Given the description of an element on the screen output the (x, y) to click on. 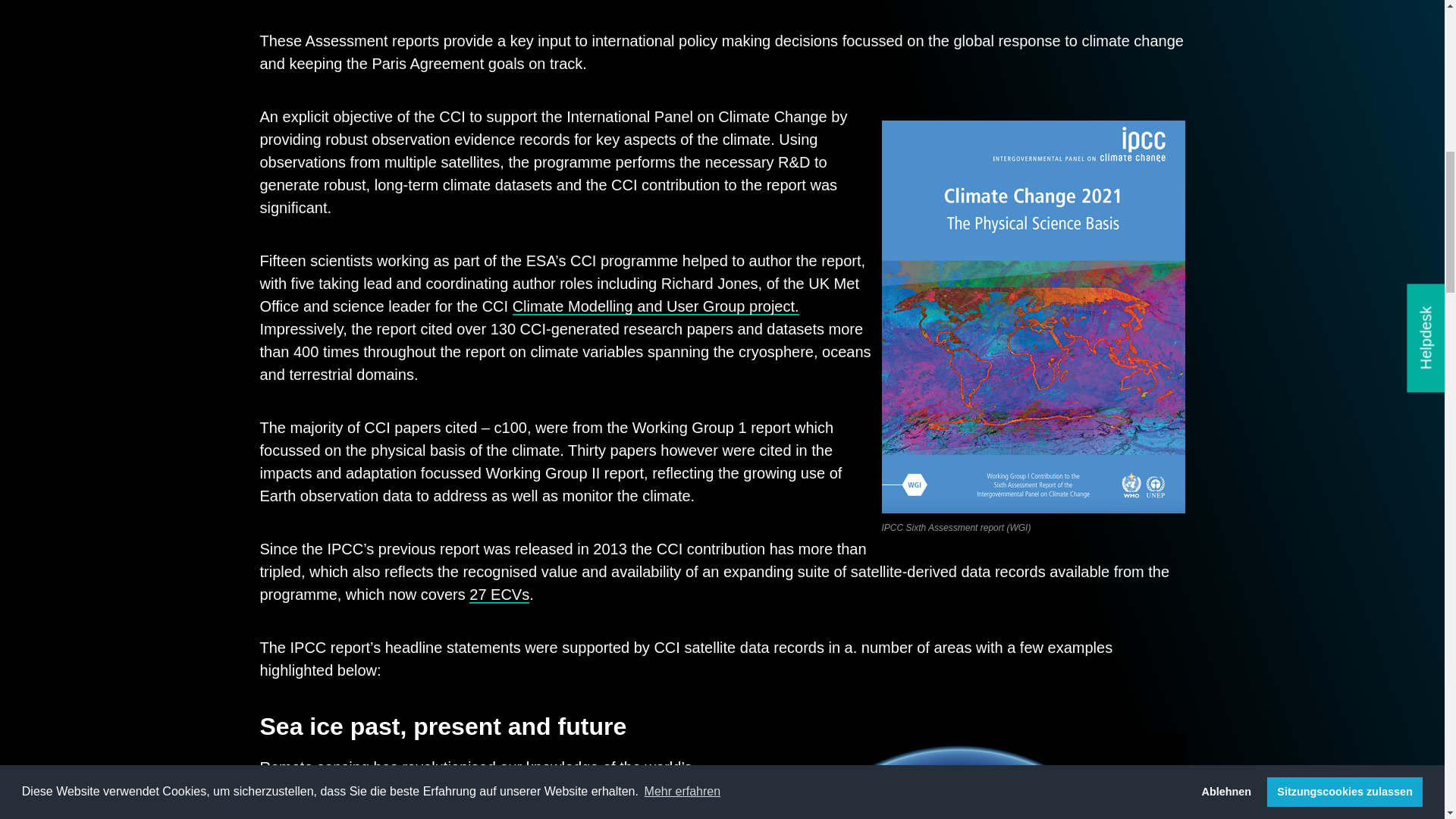
27 ECVs (498, 594)
Climate Modelling and User Group project. (655, 306)
